Given the description of an element on the screen output the (x, y) to click on. 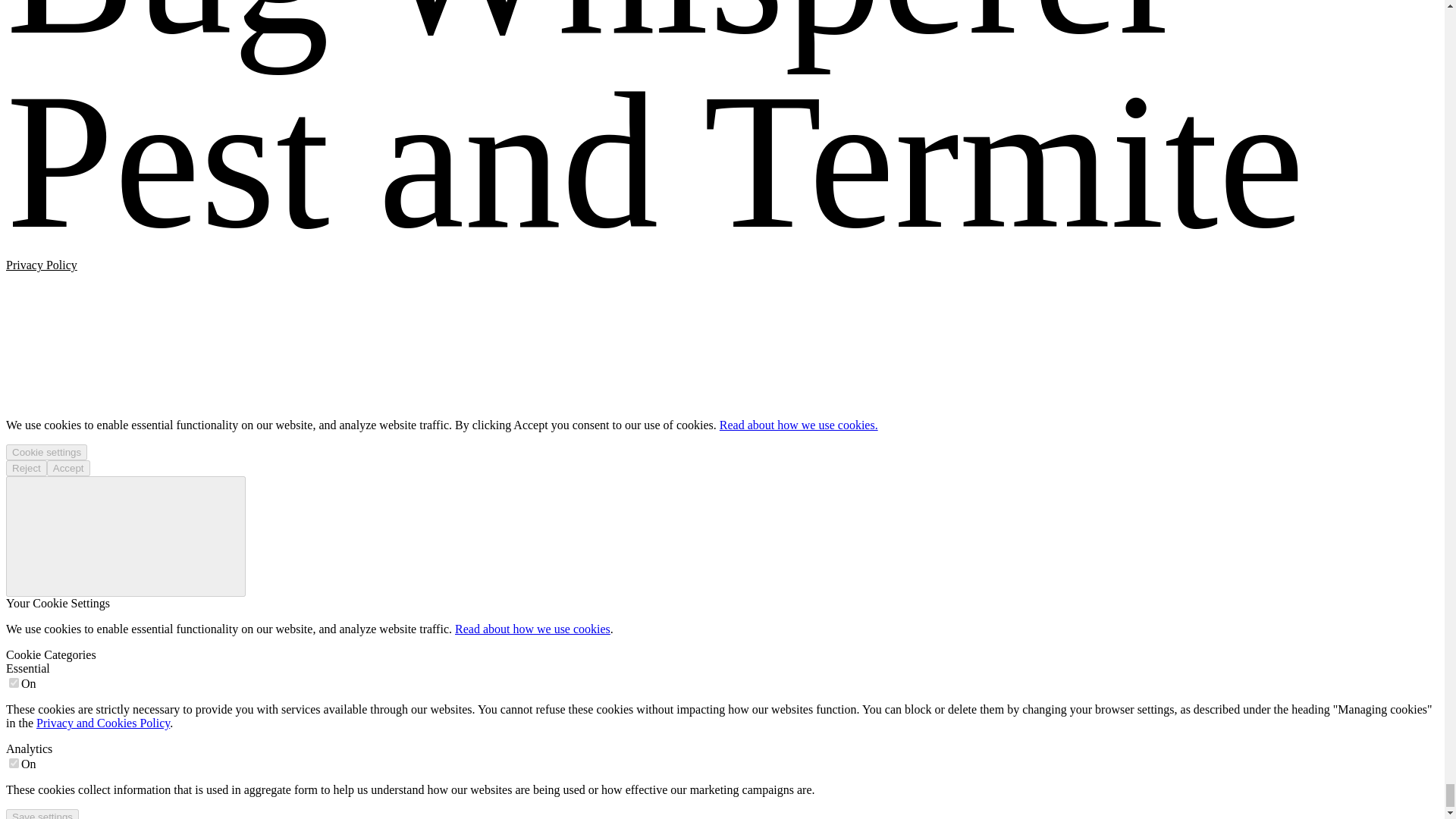
on (13, 682)
Privacy Policy (41, 264)
Read about how we use cookies. (798, 424)
Read about how we use cookies (532, 628)
on (13, 763)
Accept (68, 467)
Privacy and Cookies Policy (103, 722)
Reject (25, 467)
Cookie settings (46, 452)
